Given the description of an element on the screen output the (x, y) to click on. 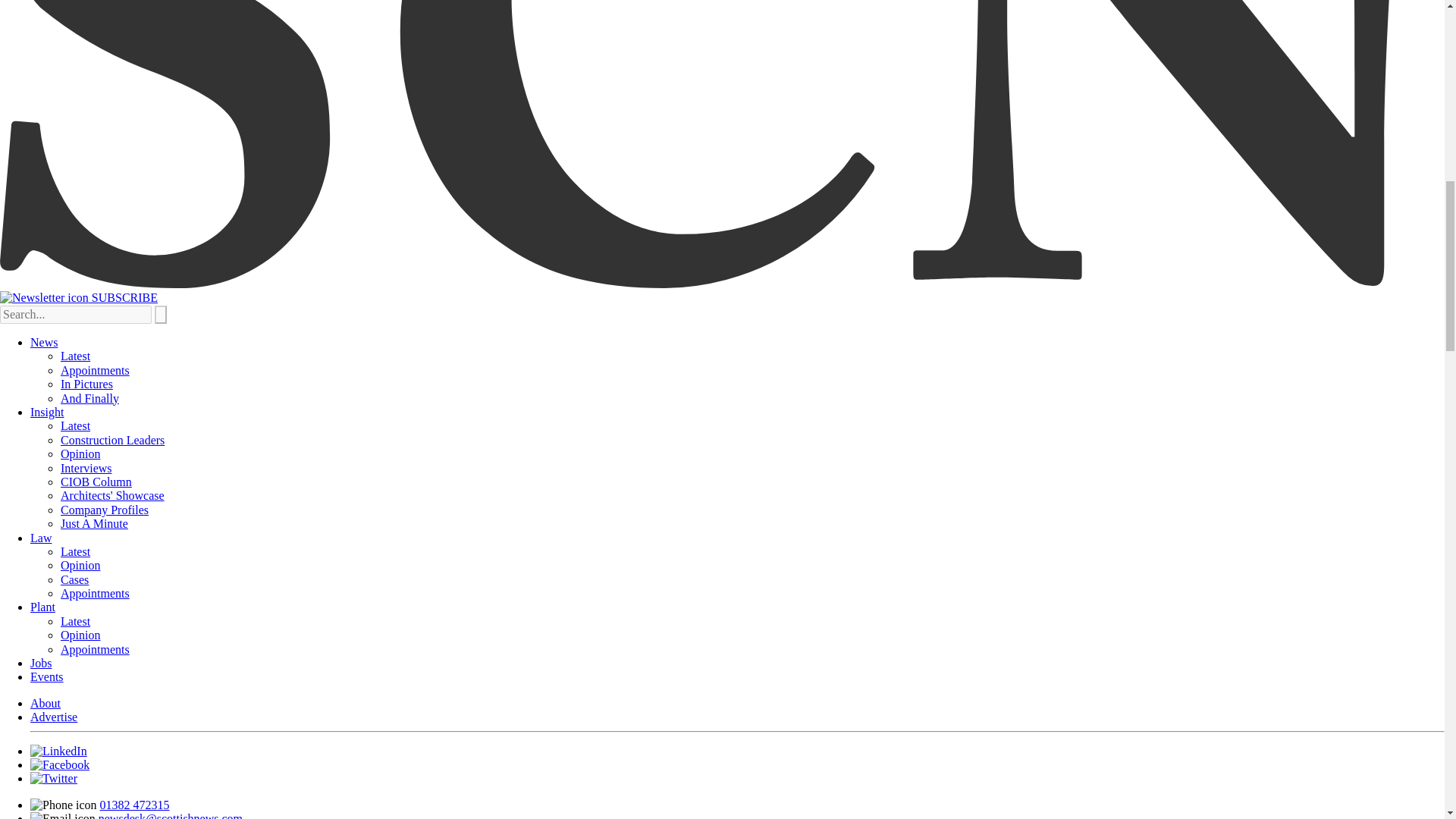
SUBSCRIBE (78, 297)
Latest (75, 355)
News (44, 341)
